Given the description of an element on the screen output the (x, y) to click on. 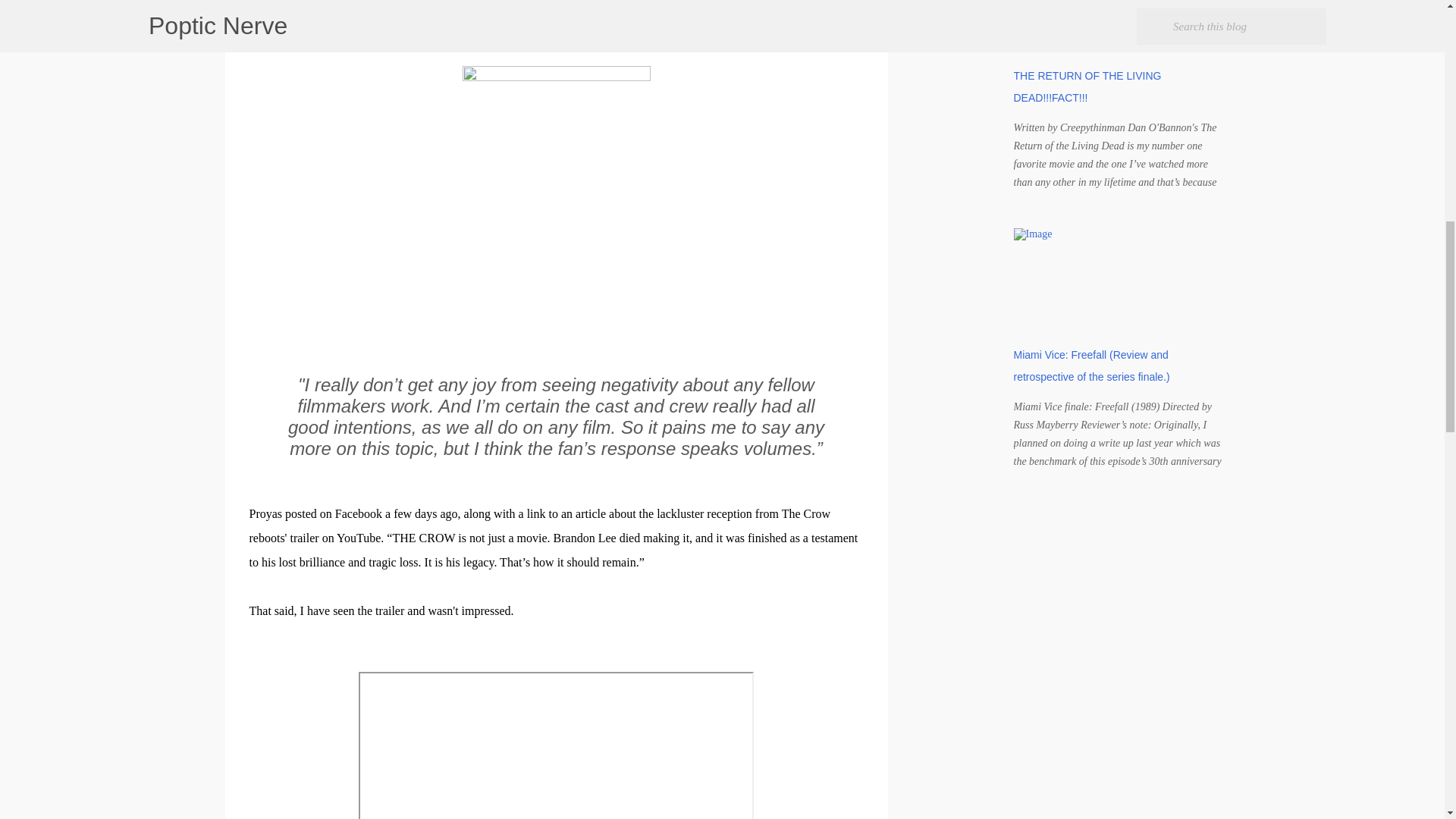
THE RETURN OF THE LIVING DEAD!!!FACT!!! (1086, 86)
